Given the description of an element on the screen output the (x, y) to click on. 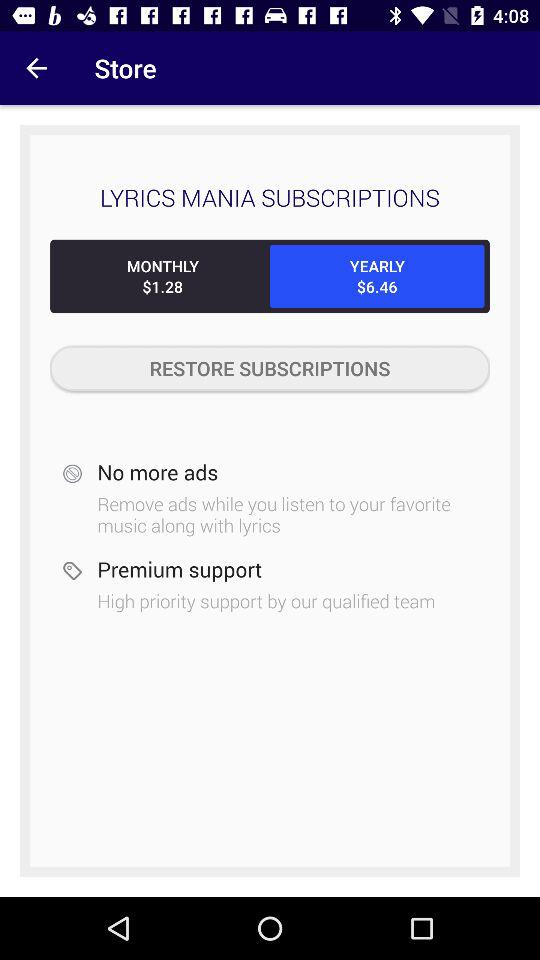
choose the icon at the top right corner (377, 275)
